Given the description of an element on the screen output the (x, y) to click on. 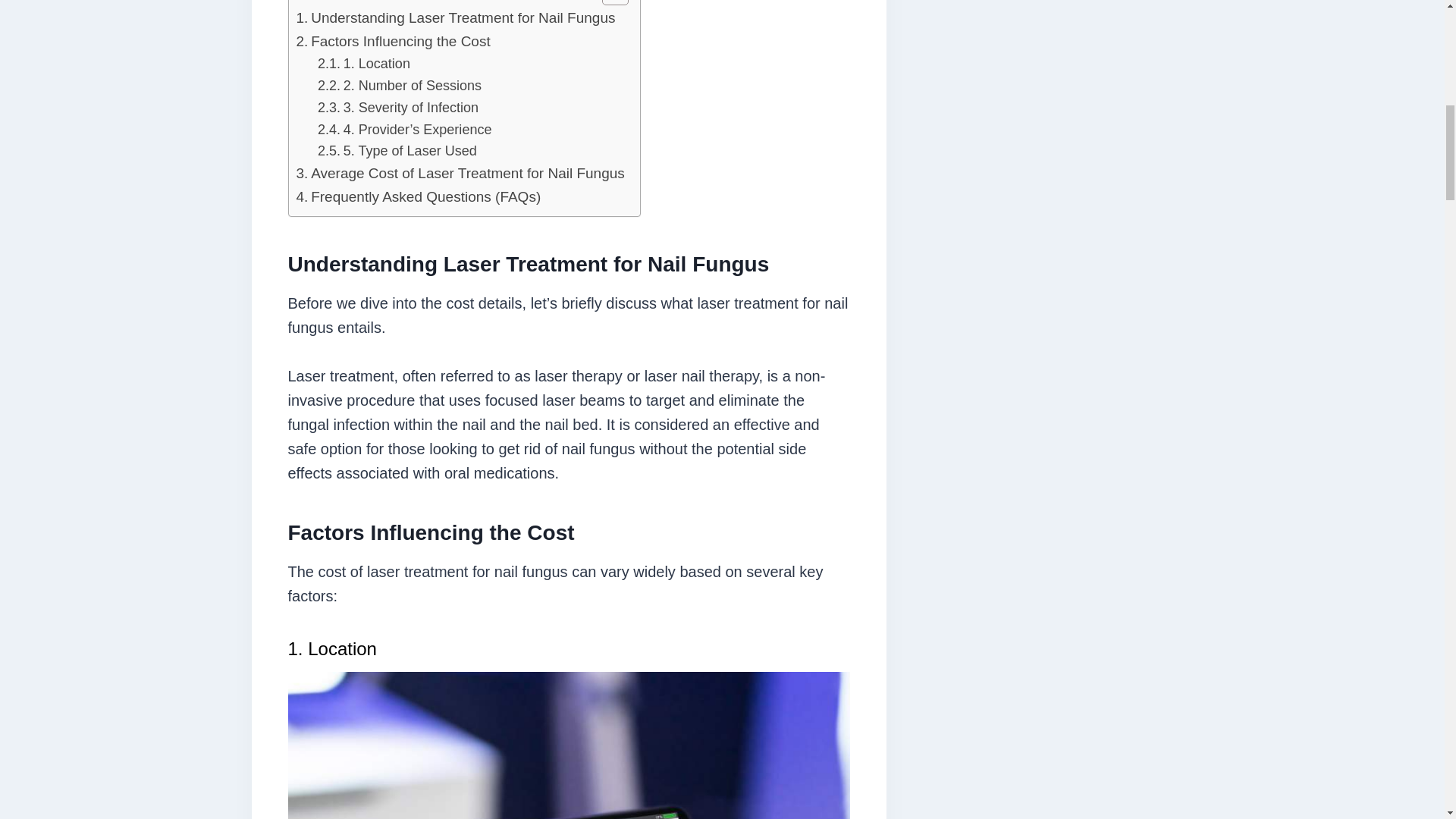
Understanding Laser Treatment for Nail Fungus (454, 17)
Average Cost of Laser Treatment for Nail Fungus (459, 173)
Factors Influencing the Cost (392, 41)
1. Location (363, 64)
3. Severity of Infection (398, 107)
1. Location (363, 64)
5. Type of Laser Used (397, 151)
2. Number of Sessions (399, 86)
Understanding Laser Treatment for Nail Fungus (454, 17)
2. Number of Sessions (399, 86)
